Given the description of an element on the screen output the (x, y) to click on. 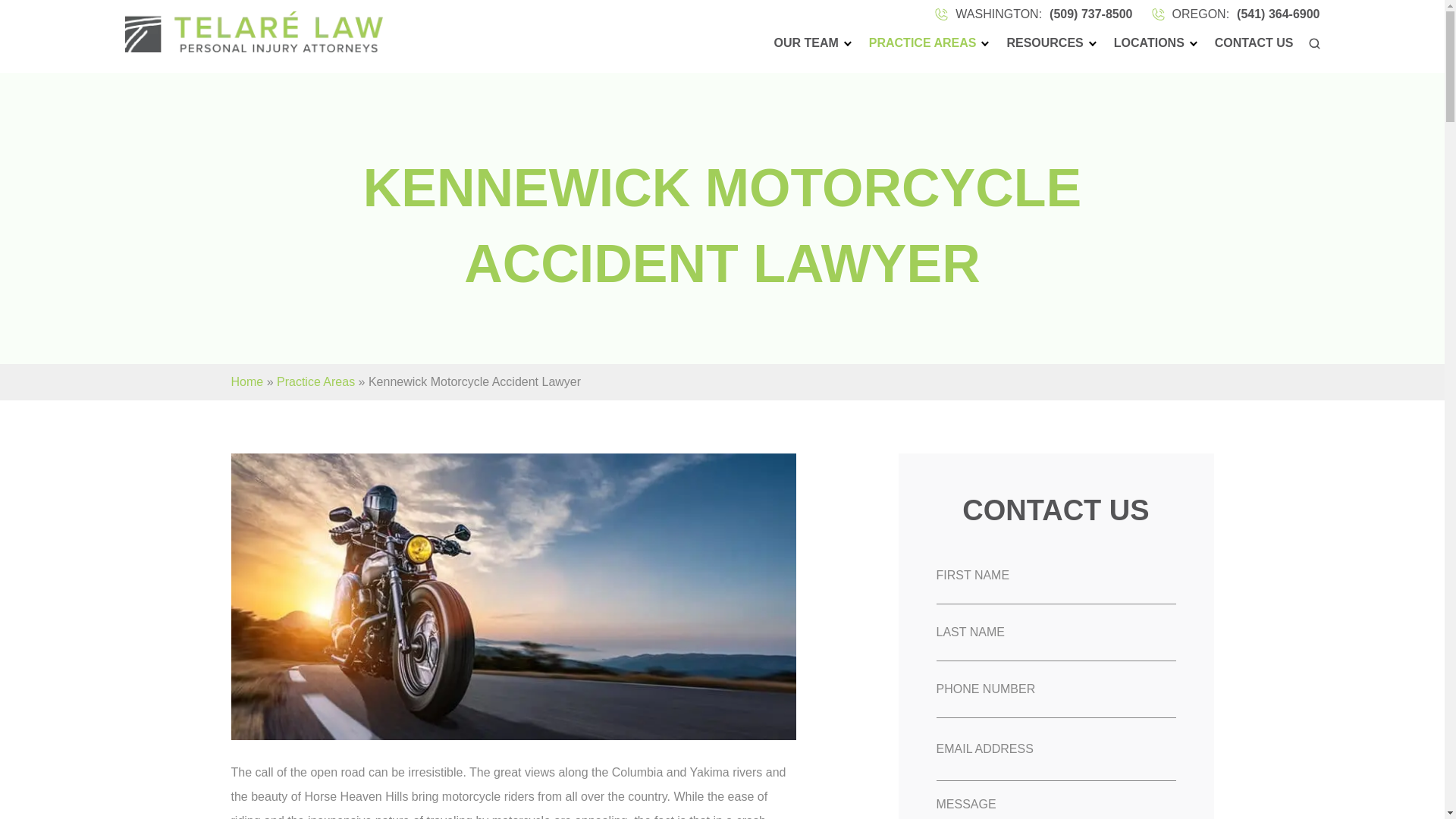
Home (246, 381)
CONTACT US (1254, 43)
Practice Areas (315, 381)
PRACTICE AREAS (922, 43)
LOCATIONS (1149, 43)
RESOURCES (1044, 43)
OUR TEAM (805, 43)
